Given the description of an element on the screen output the (x, y) to click on. 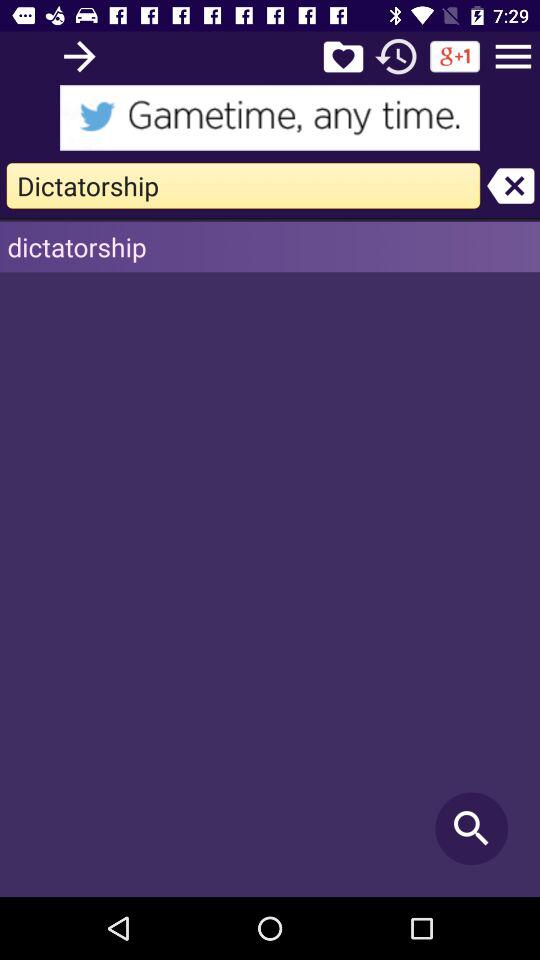
go to unselect (510, 185)
